Given the description of an element on the screen output the (x, y) to click on. 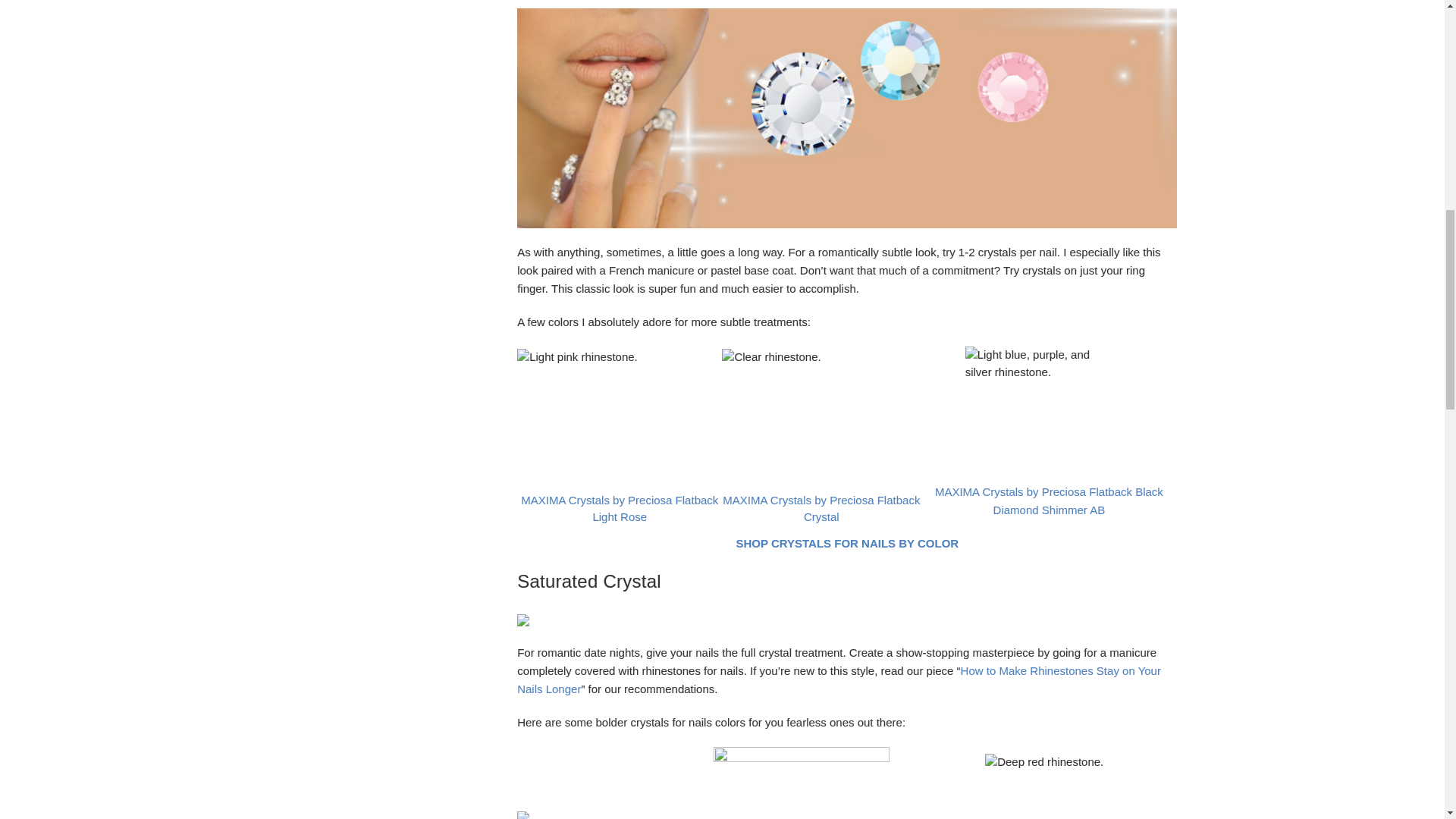
How to Make Rhinestones Stay on Your Nails Longer (838, 679)
SHOP CRYSTALS FOR NAILS BY COLOR (846, 543)
MAXIMA Crystals by Preciosa Flatback Crystal (821, 508)
MAXIMA Crystals by Preciosa Flatback Light Rose (619, 508)
